Given the description of an element on the screen output the (x, y) to click on. 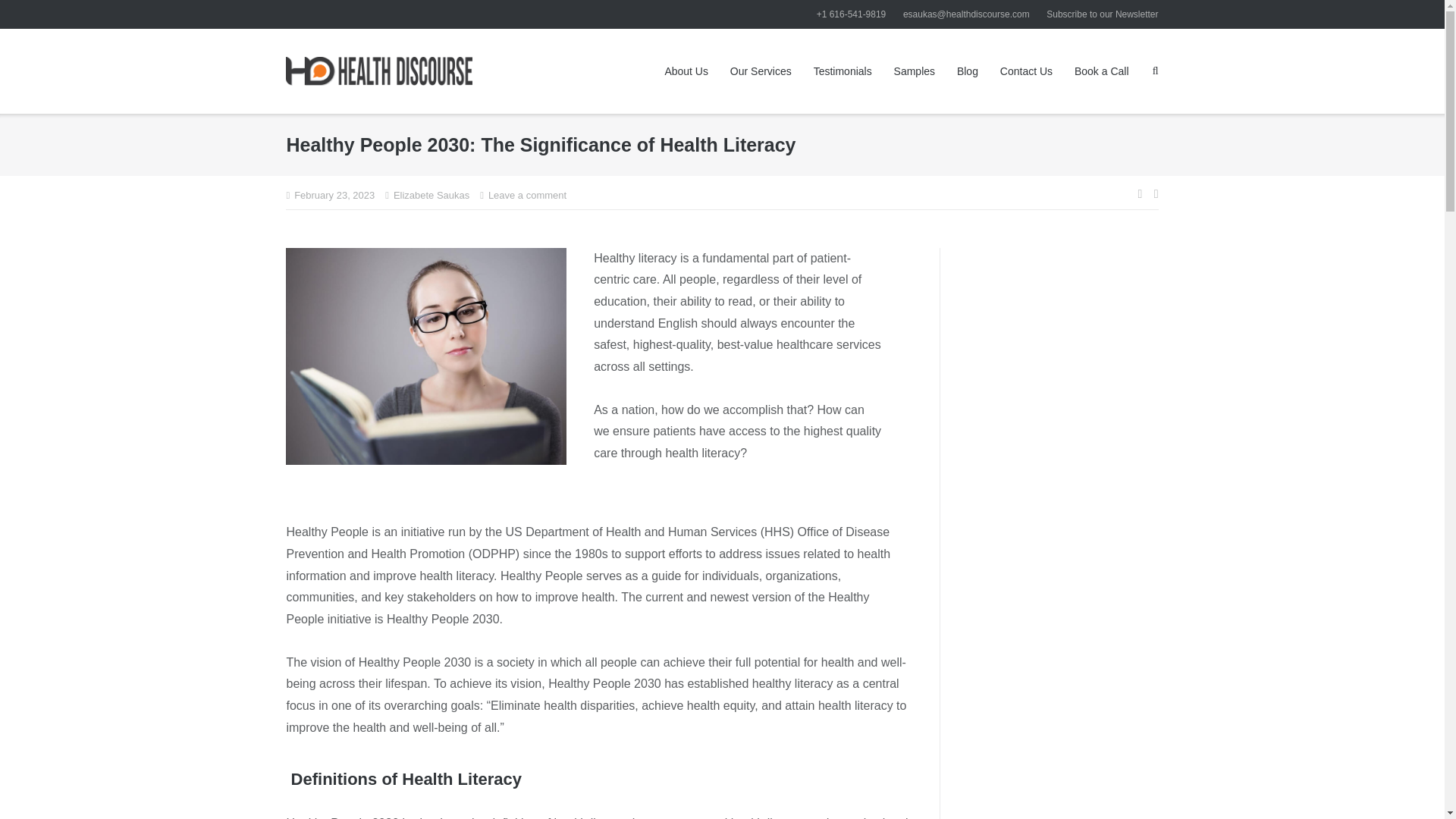
Subscribe to our Newsletter (1101, 14)
Elizabete Saukas (430, 194)
Leave a comment (526, 194)
